Given the description of an element on the screen output the (x, y) to click on. 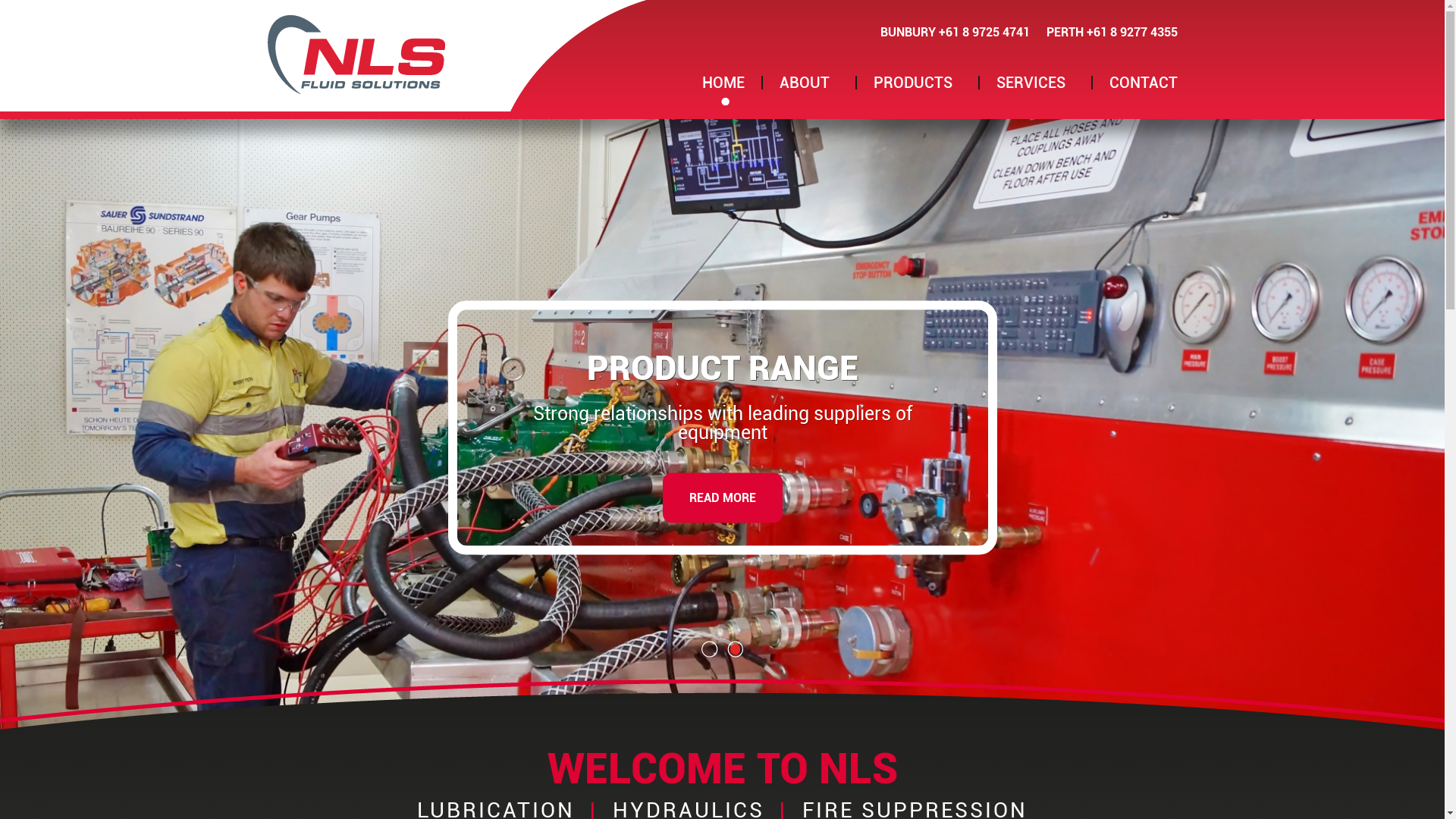
SERVICES Element type: text (1035, 82)
CONTACT Element type: text (1142, 82)
Home Element type: hover (355, 54)
1 Element type: text (708, 648)
PRODUCTS Element type: text (917, 82)
BUNBURY +61 8 9725 4741 Element type: text (954, 32)
HOME Element type: text (723, 82)
Jump to navigation Element type: text (722, 2)
ABOUT Element type: text (808, 82)
2 Element type: text (734, 648)
PERTH +61 8 9277 4355 Element type: text (1111, 32)
READ MORE Element type: text (722, 498)
